Given the description of an element on the screen output the (x, y) to click on. 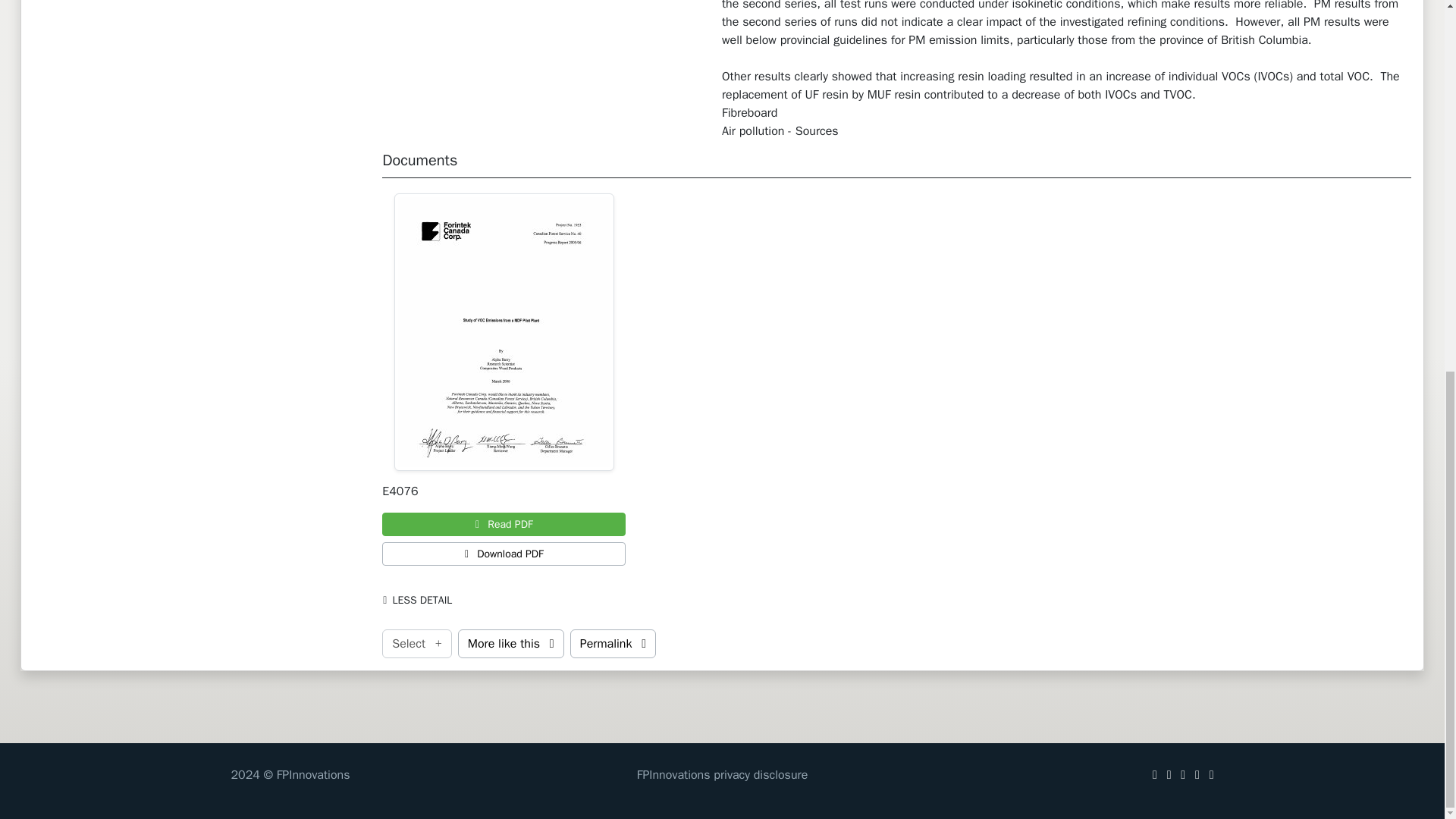
Read PDF (503, 524)
Download PDF (503, 553)
More like this (511, 643)
FPInnovations privacy disclosure (722, 774)
Permalink (613, 643)
LESS DETAIL (419, 599)
Select (416, 643)
Permalink (613, 643)
More Like This (511, 643)
